Given the description of an element on the screen output the (x, y) to click on. 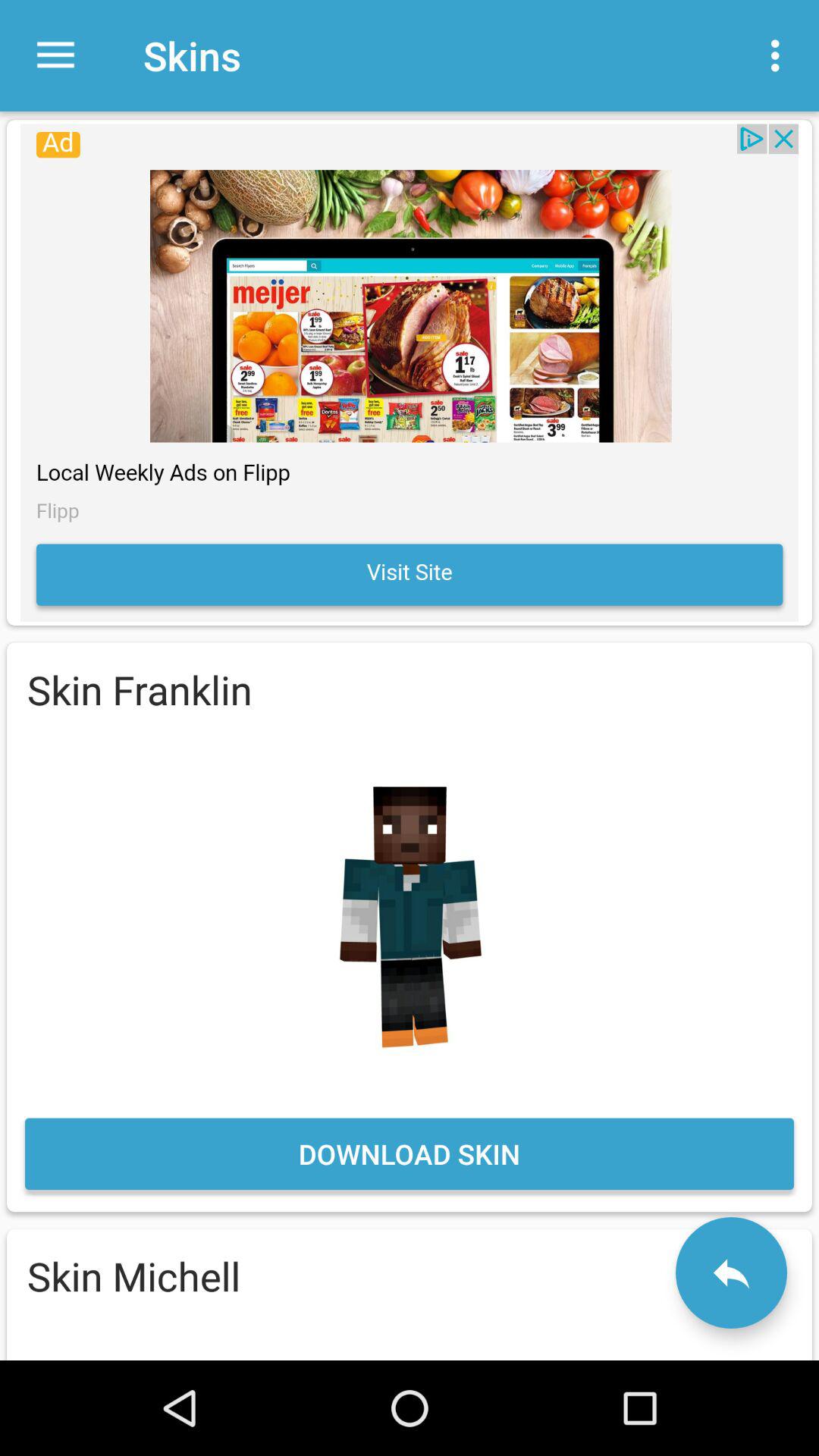
click on advertisements (409, 372)
